Given the description of an element on the screen output the (x, y) to click on. 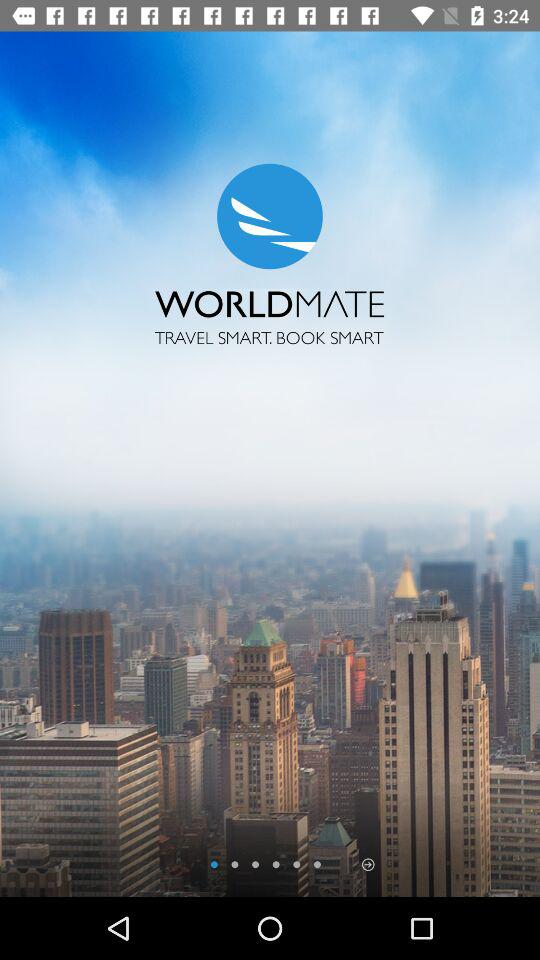
next page (367, 864)
